Given the description of an element on the screen output the (x, y) to click on. 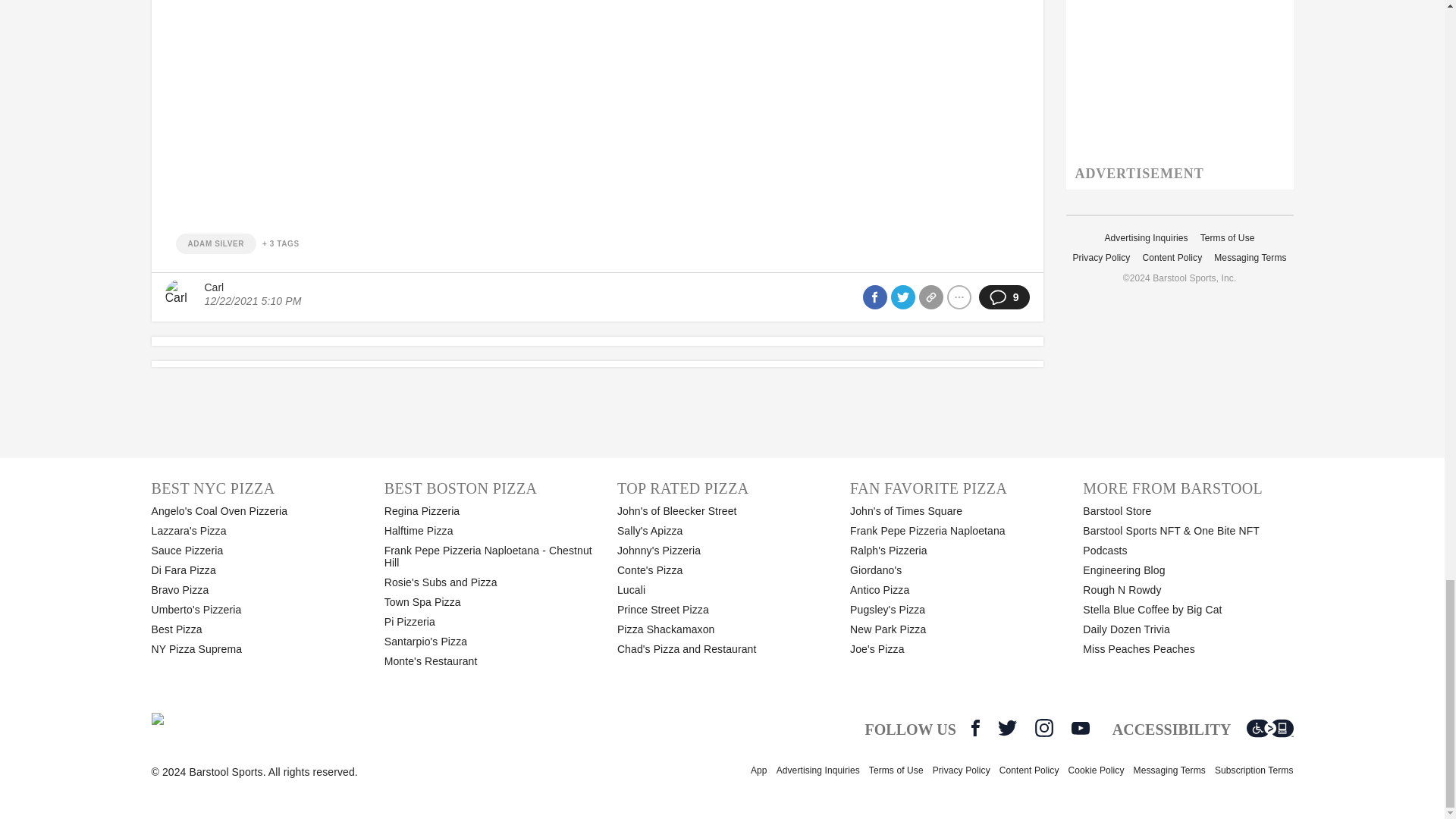
Twitter Icon (1006, 728)
Instagram Icon (1043, 728)
YouTube Icon (1080, 728)
Level Access website accessibility icon (1270, 727)
